Given the description of an element on the screen output the (x, y) to click on. 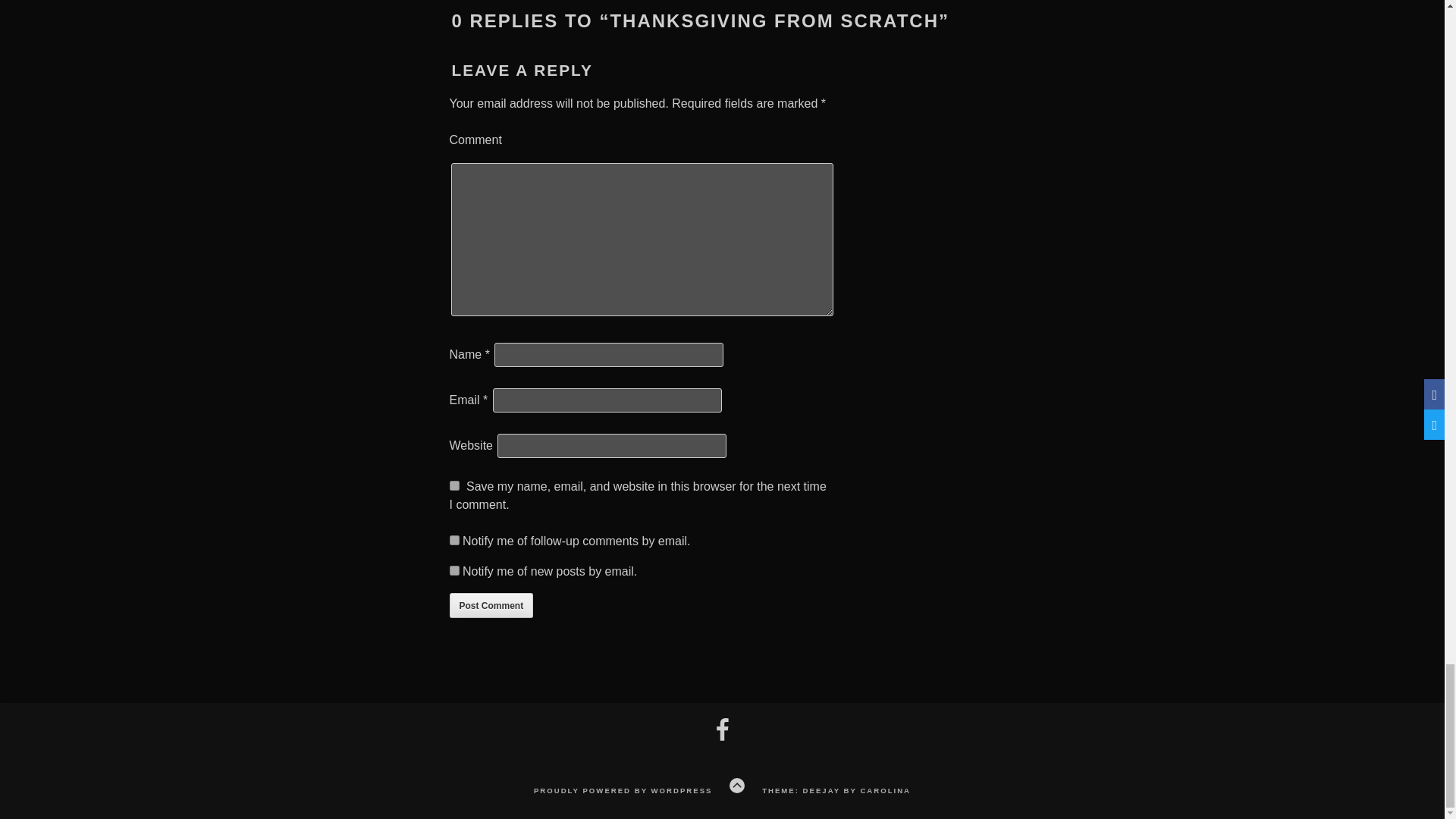
Post Comment (490, 605)
Post Comment (490, 605)
subscribe (453, 570)
facebook (721, 738)
yes (453, 485)
subscribe (453, 540)
PROUDLY POWERED BY WORDPRESS (622, 792)
THEME: DEEJAY BY CAROLINA (836, 792)
GO TO THE TOP (736, 785)
